Given the description of an element on the screen output the (x, y) to click on. 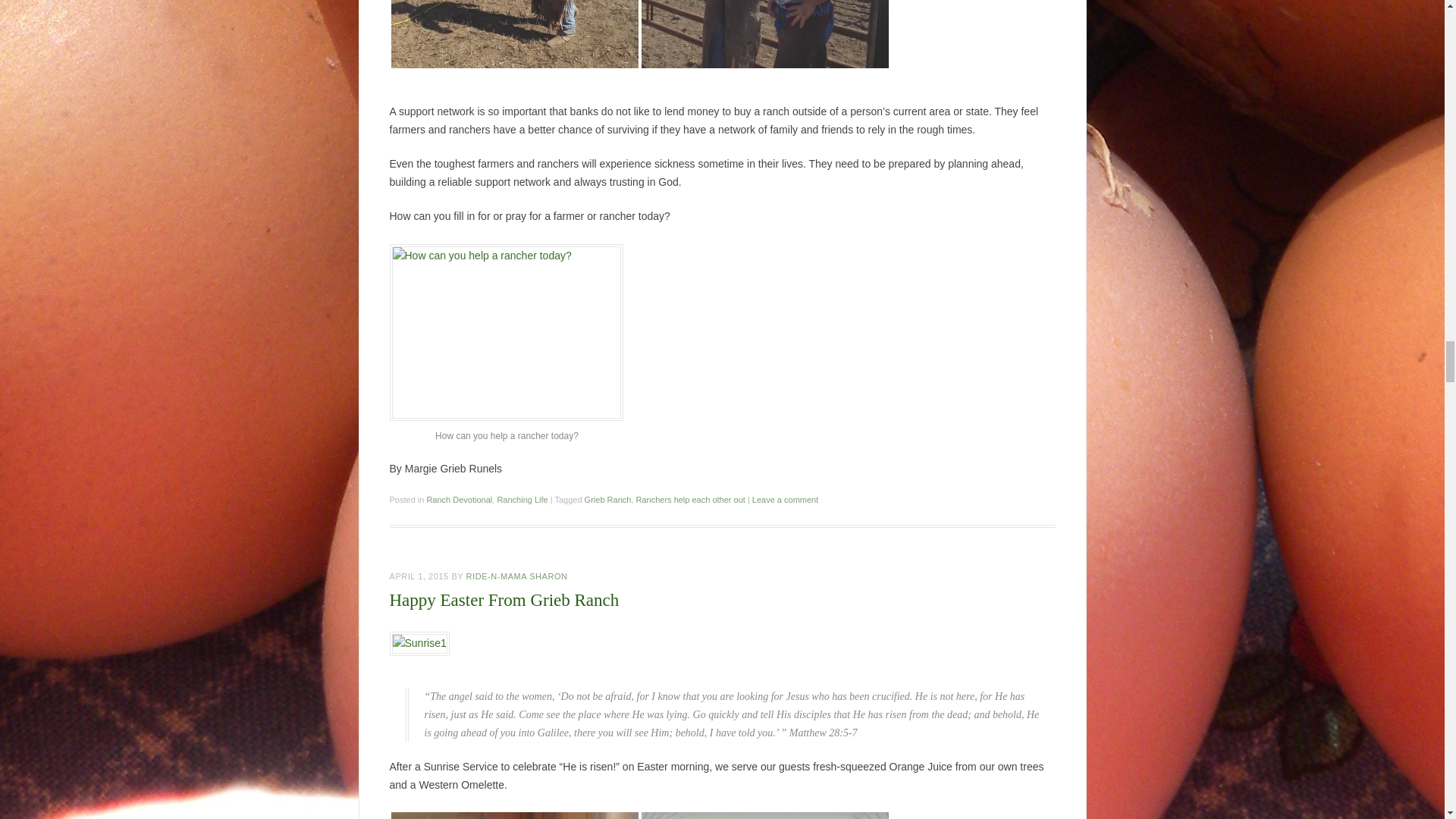
We're here to help (765, 33)
7:58 am (419, 575)
Ranching friends help out (515, 33)
